Given the description of an element on the screen output the (x, y) to click on. 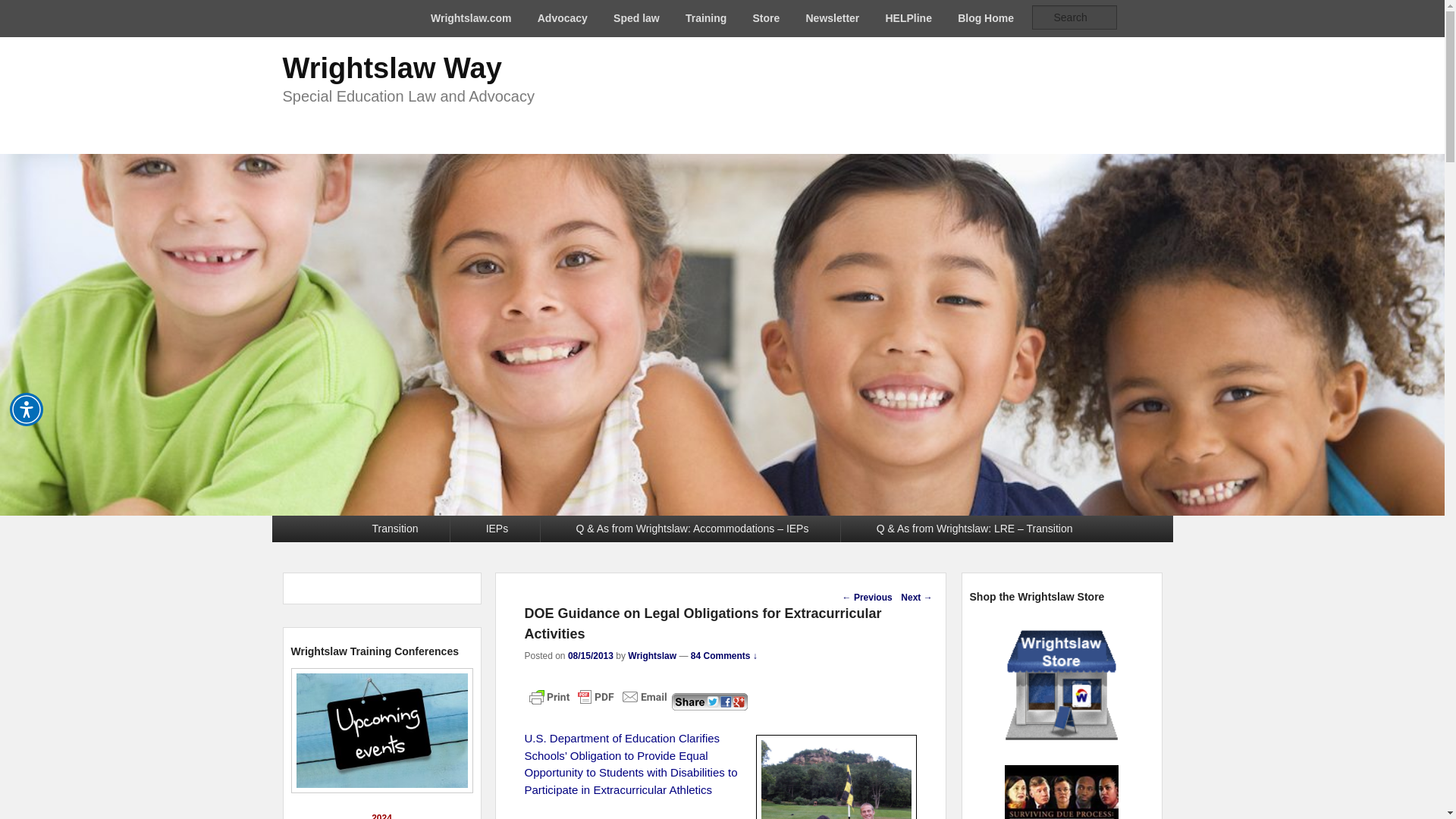
9:00 AM (589, 655)
IEPs (497, 528)
Wrightslaw.com (470, 18)
Blog Home (985, 18)
Accessibility Menu (26, 409)
Search (21, 11)
Wrightslaw (652, 655)
Newsletter (832, 18)
Store (766, 18)
Sped law (636, 18)
HELPline (907, 18)
Transition (394, 528)
View all posts by Wrightslaw (652, 655)
Training (706, 18)
Wrightslaw Way (391, 68)
